Given the description of an element on the screen output the (x, y) to click on. 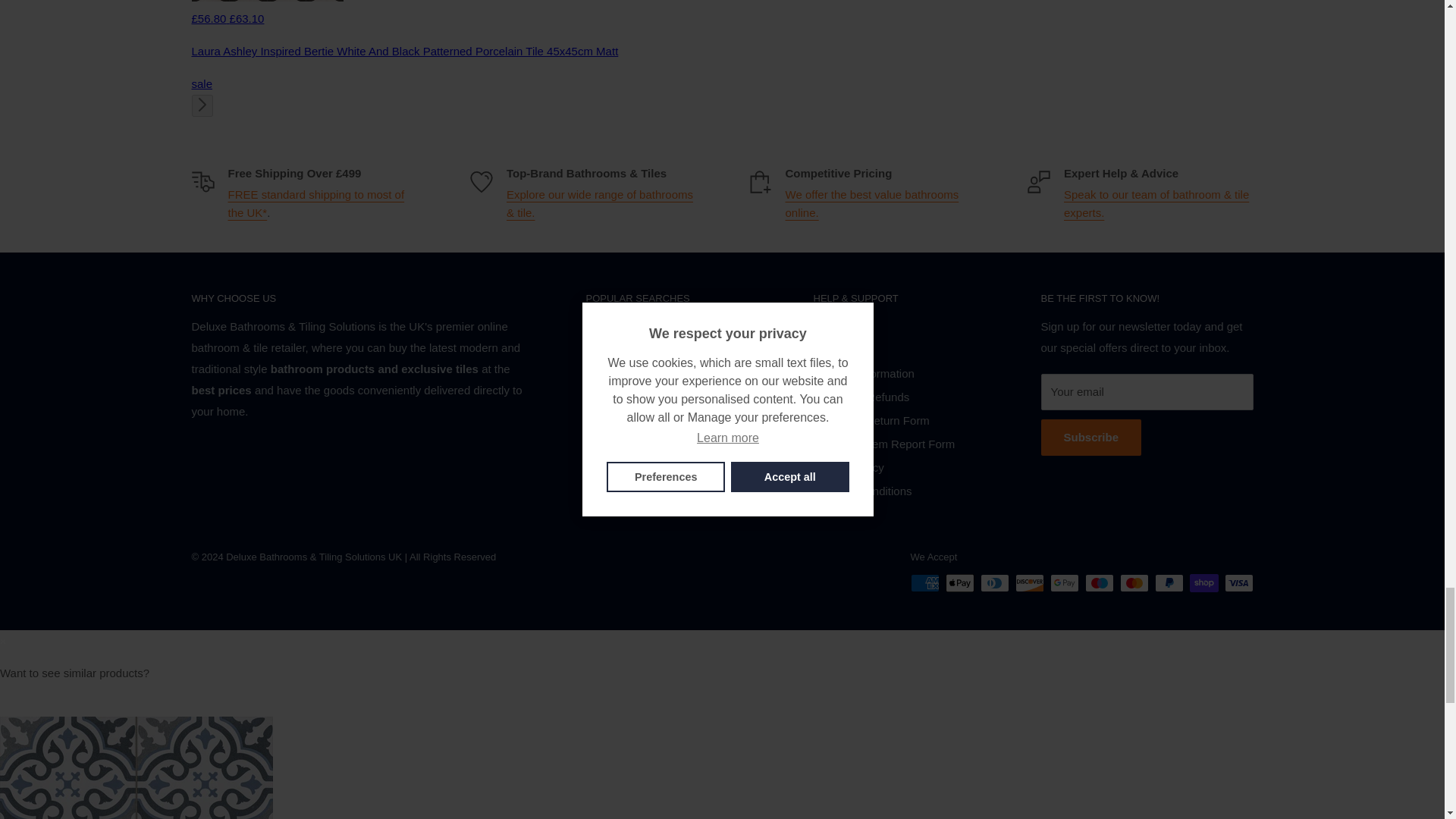
We offer the best value bathrooms online. (872, 203)
Contact Deluxe Bathrooms (1156, 203)
Delivery Information (315, 203)
